Given the description of an element on the screen output the (x, y) to click on. 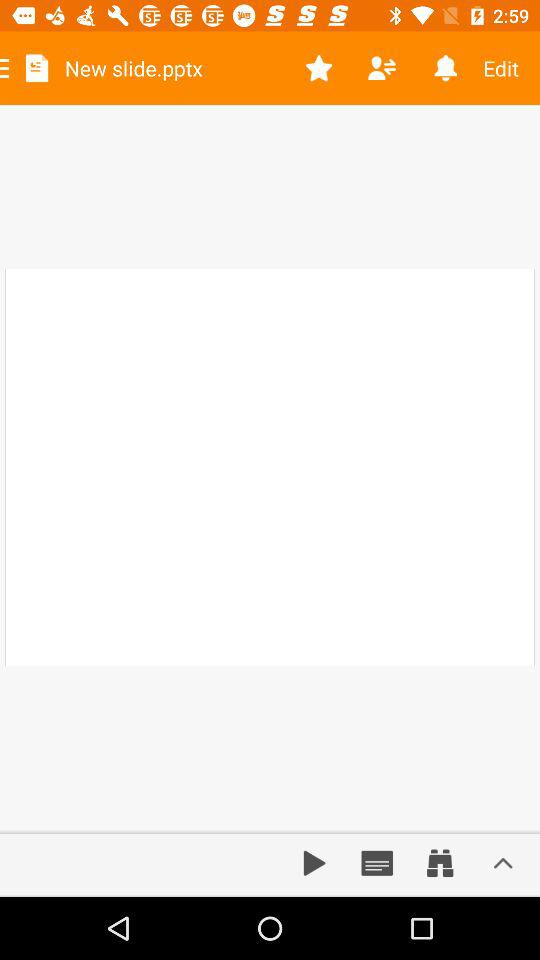
document box (377, 863)
